Given the description of an element on the screen output the (x, y) to click on. 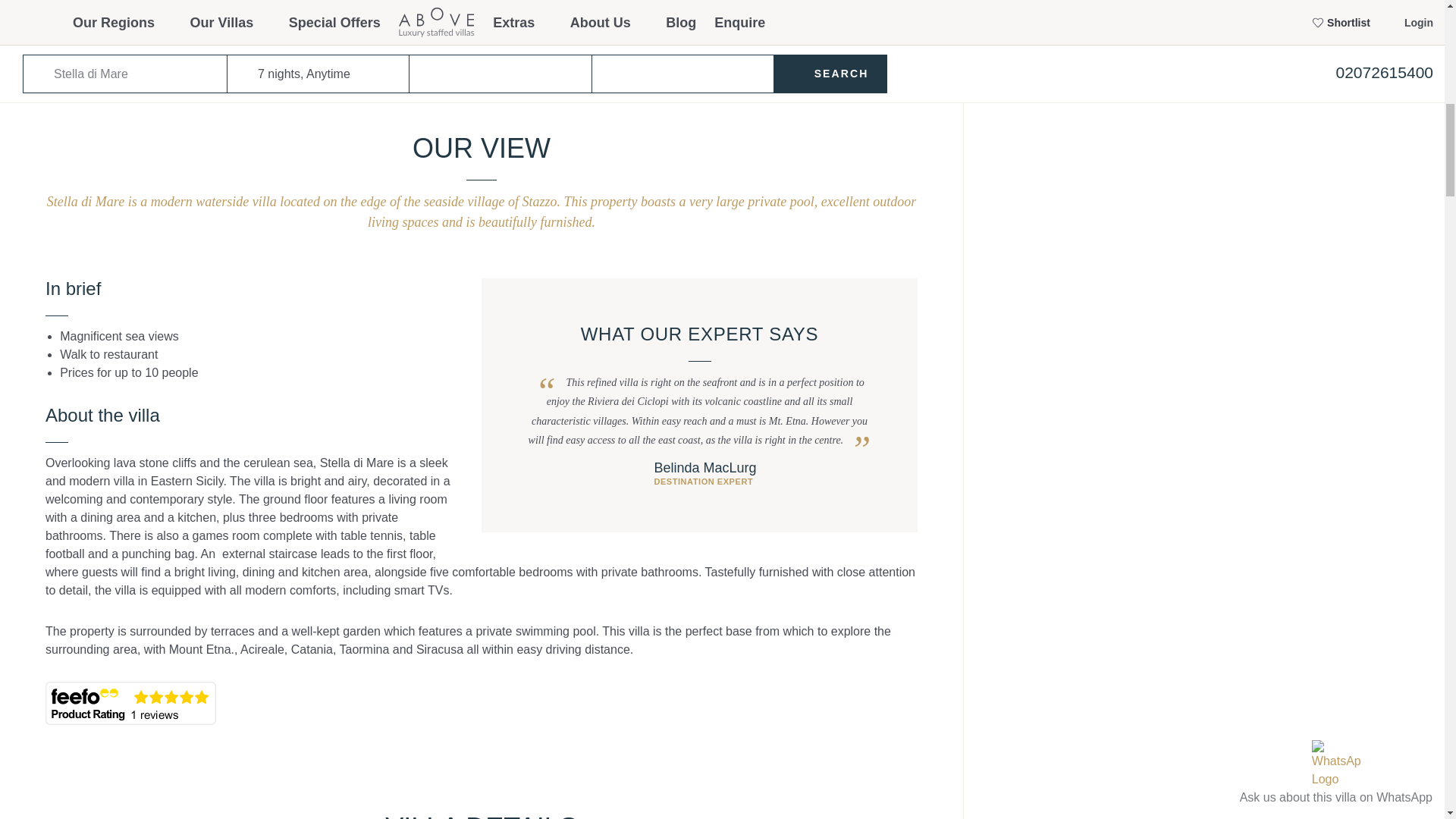
See what our customers said about this villa (130, 702)
